Given the description of an element on the screen output the (x, y) to click on. 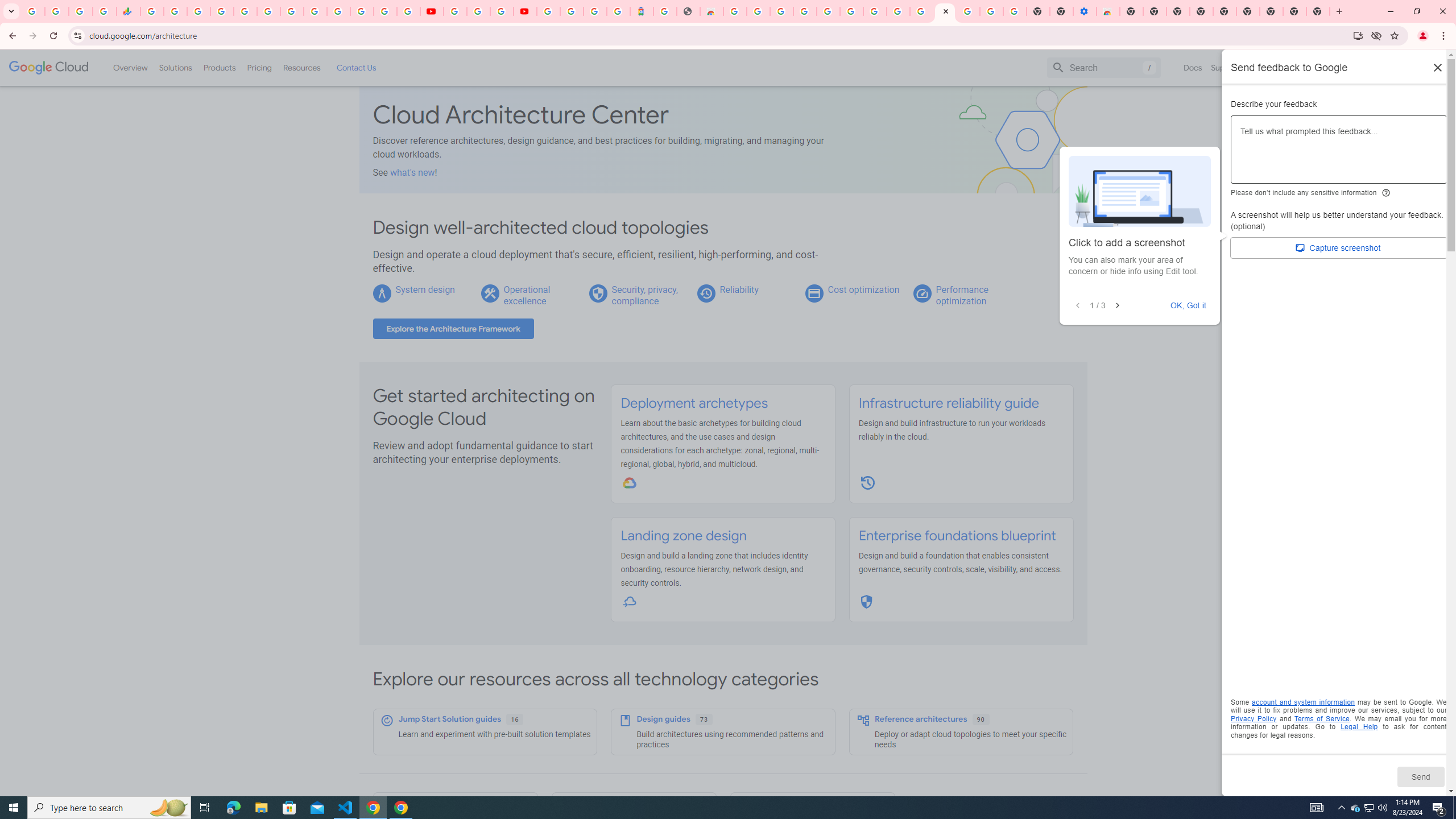
Search (1103, 67)
Enterprise foundations blueprint (956, 535)
Create your Google Account (757, 11)
Previous (1078, 305)
Sign in - Google Accounts (827, 11)
what's new (412, 172)
Atour Hotel - Google hotels (641, 11)
account and system information (1303, 702)
